Given the description of an element on the screen output the (x, y) to click on. 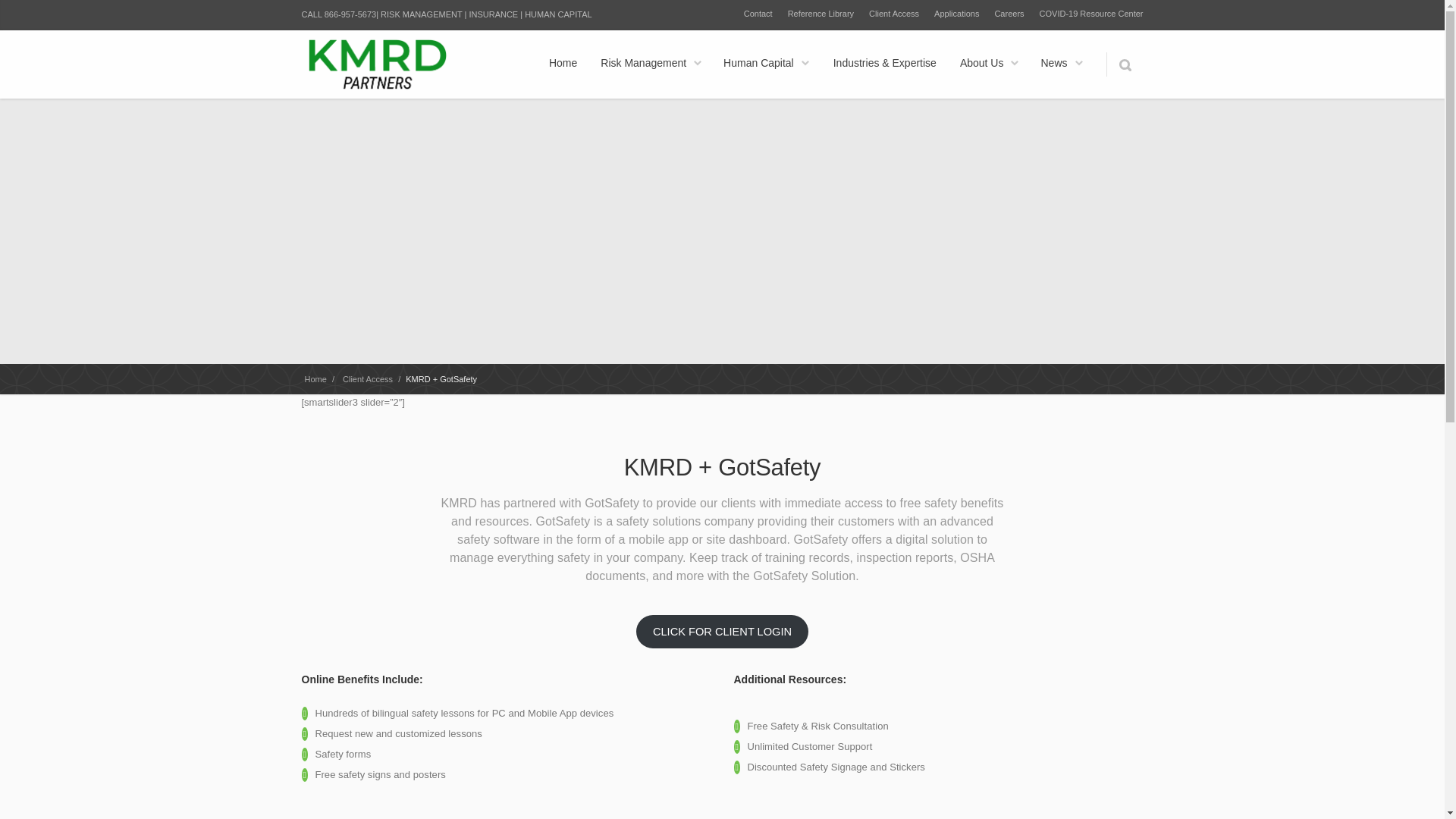
Human Capital (766, 64)
Search (1123, 64)
COVID-19 Resource Center (1090, 15)
Careers (1008, 15)
Contact (758, 15)
Client Access (893, 15)
Risk Management (650, 64)
Risk Management Solutions (650, 64)
Human Capital Solutions (766, 64)
Applications (956, 15)
Reference Library (820, 15)
